Given the description of an element on the screen output the (x, y) to click on. 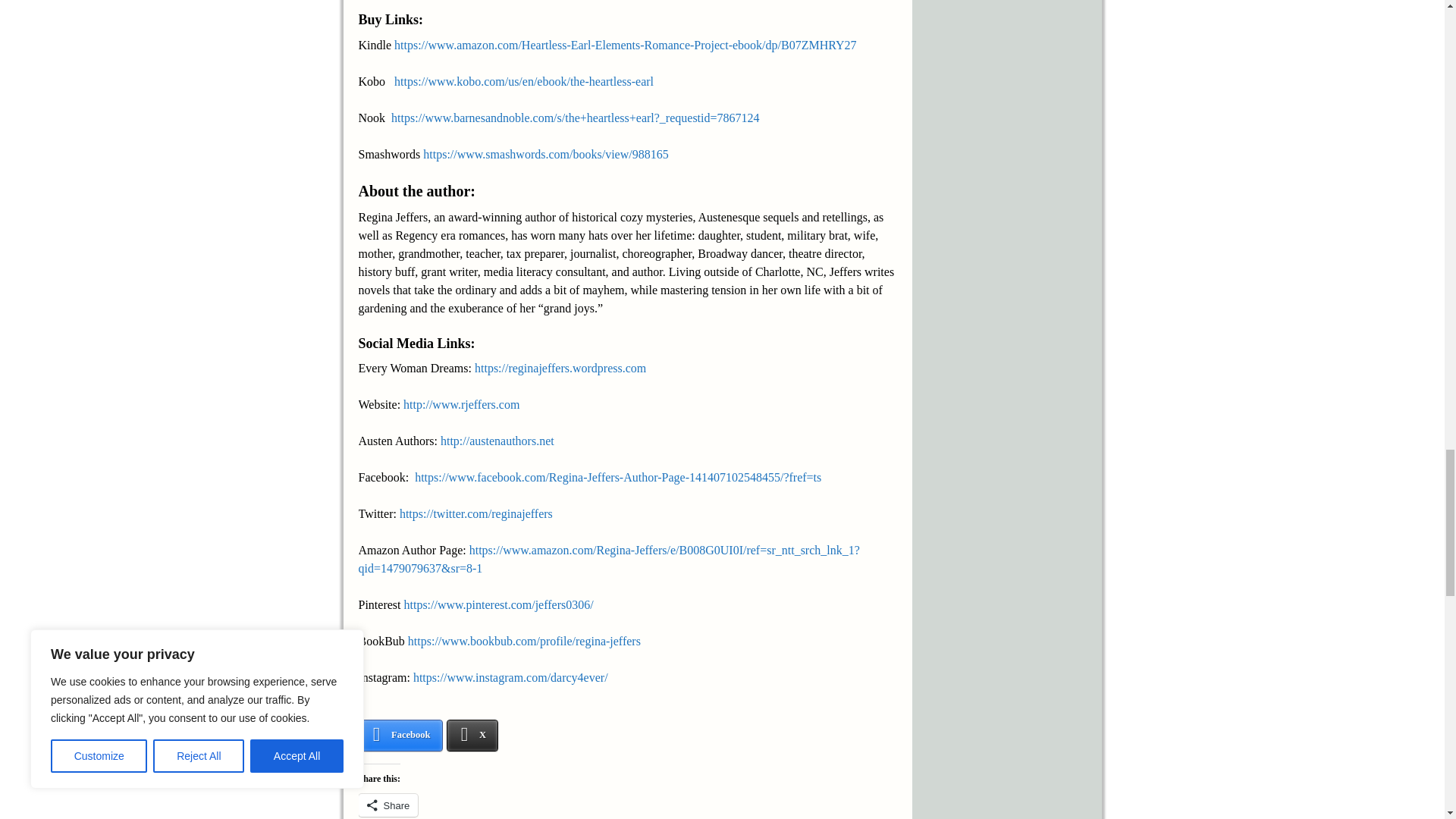
Share this article on Facebook (400, 735)
Share this article on X (472, 735)
